Given the description of an element on the screen output the (x, y) to click on. 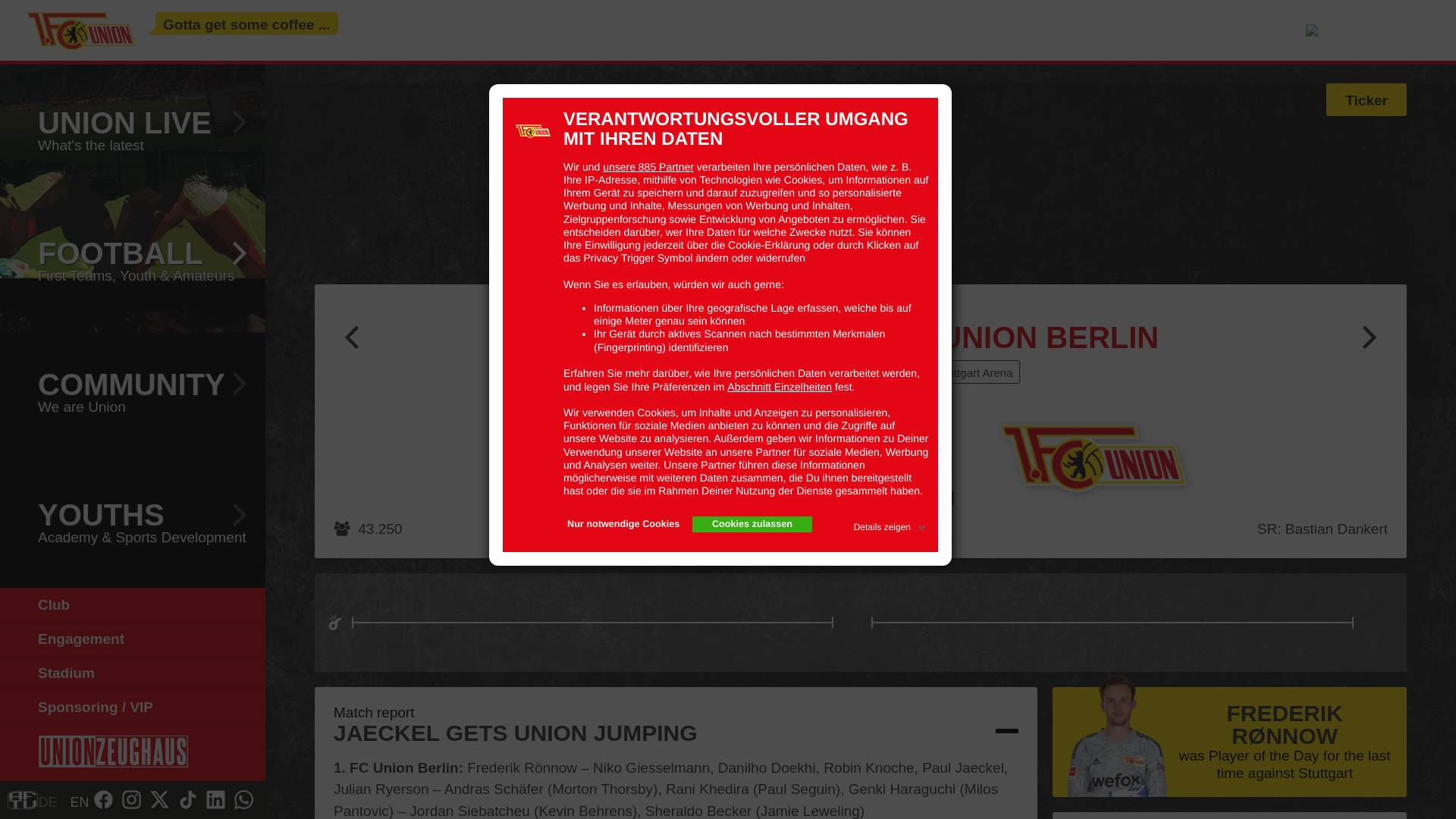
Abschnitt Einzelheiten (778, 386)
Nur notwendige Cookies (622, 524)
Details zeigen (890, 524)
unsere 885 Partner (648, 166)
Cookies zulassen (752, 524)
